Given the description of an element on the screen output the (x, y) to click on. 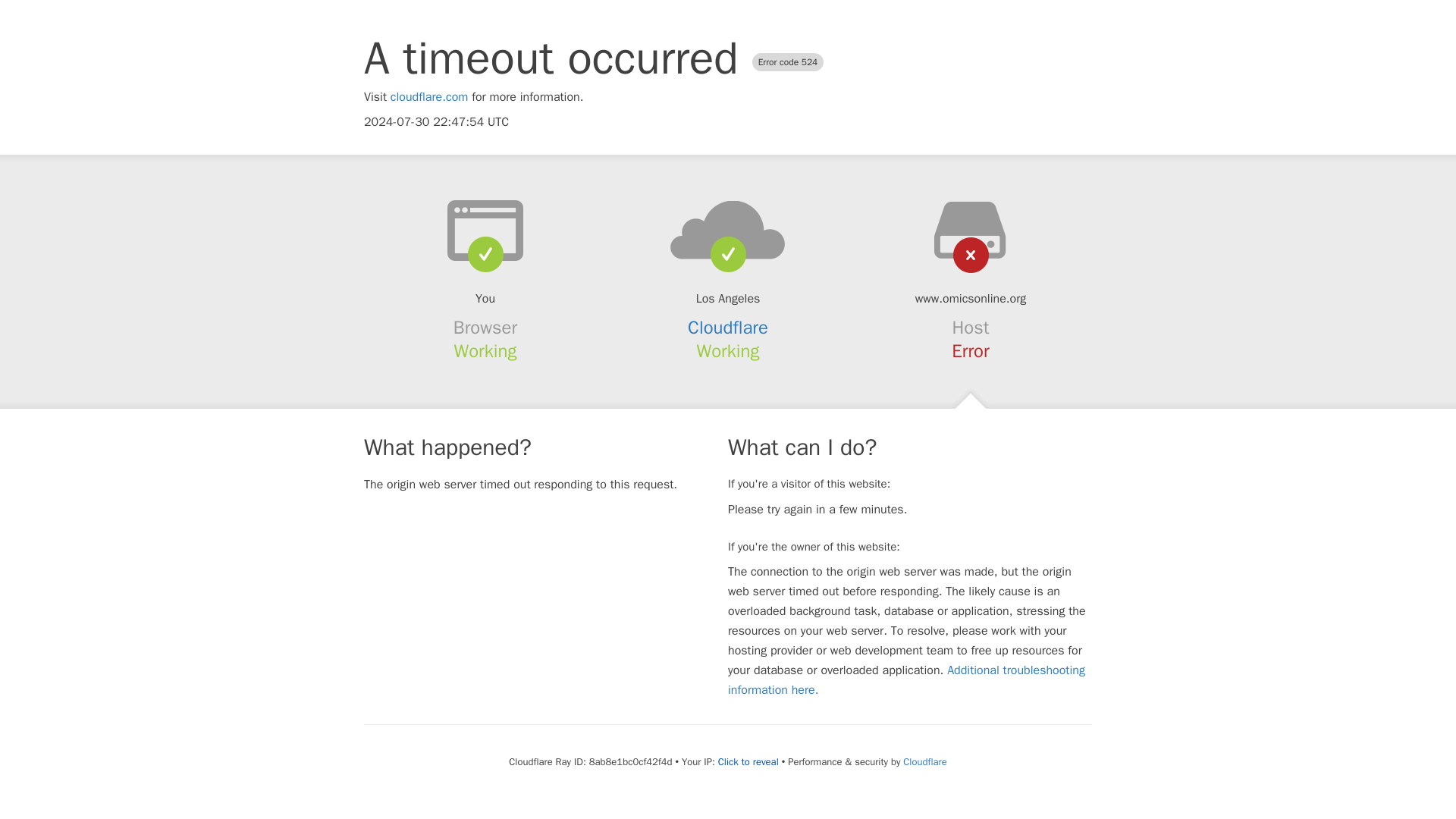
cloudflare.com (429, 96)
Additional troubleshooting information here. (906, 679)
Cloudflare (727, 327)
Click to reveal (747, 762)
Cloudflare (924, 761)
